Given the description of an element on the screen output the (x, y) to click on. 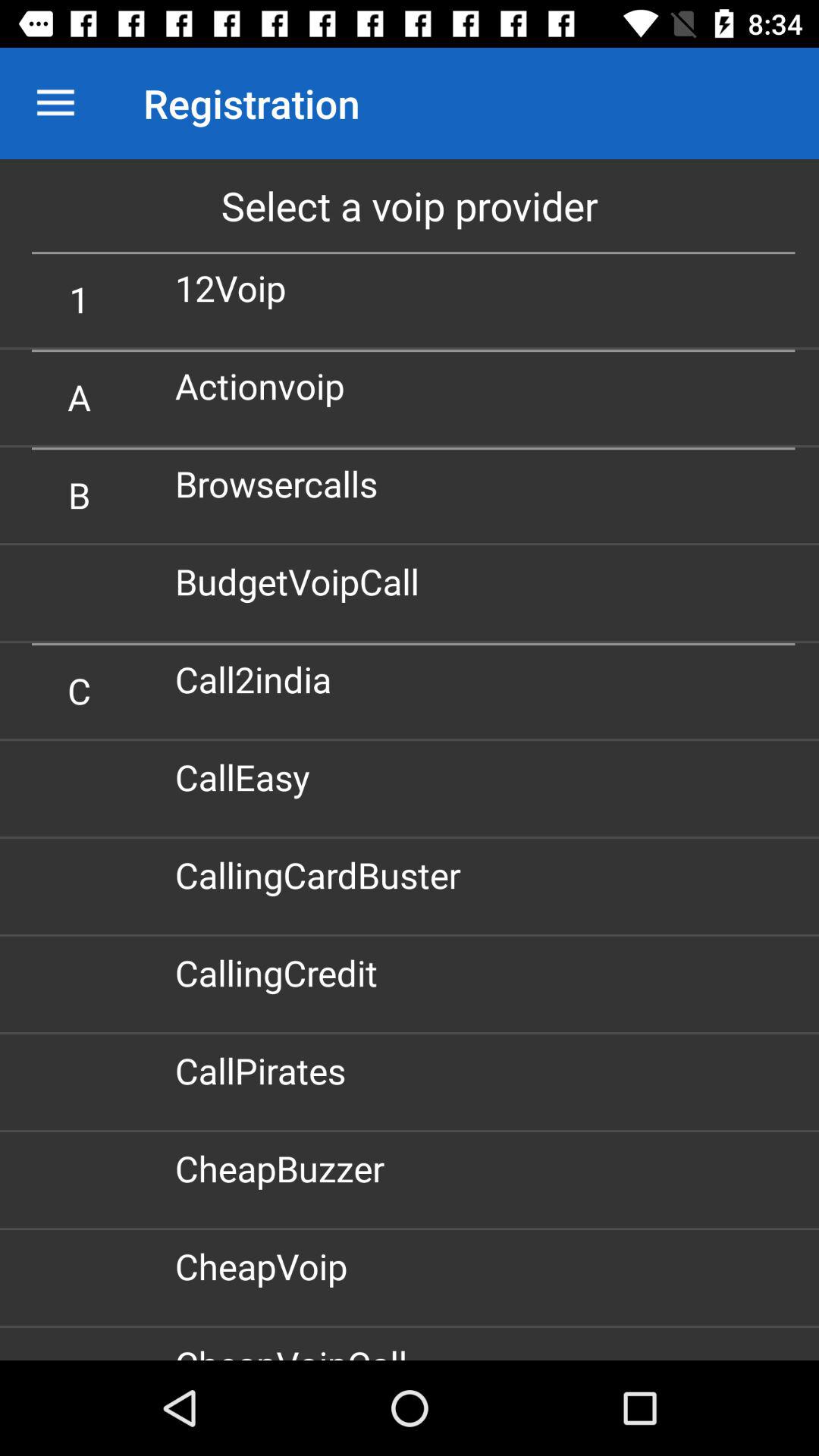
launch the budgetvoipcall (303, 581)
